Given the description of an element on the screen output the (x, y) to click on. 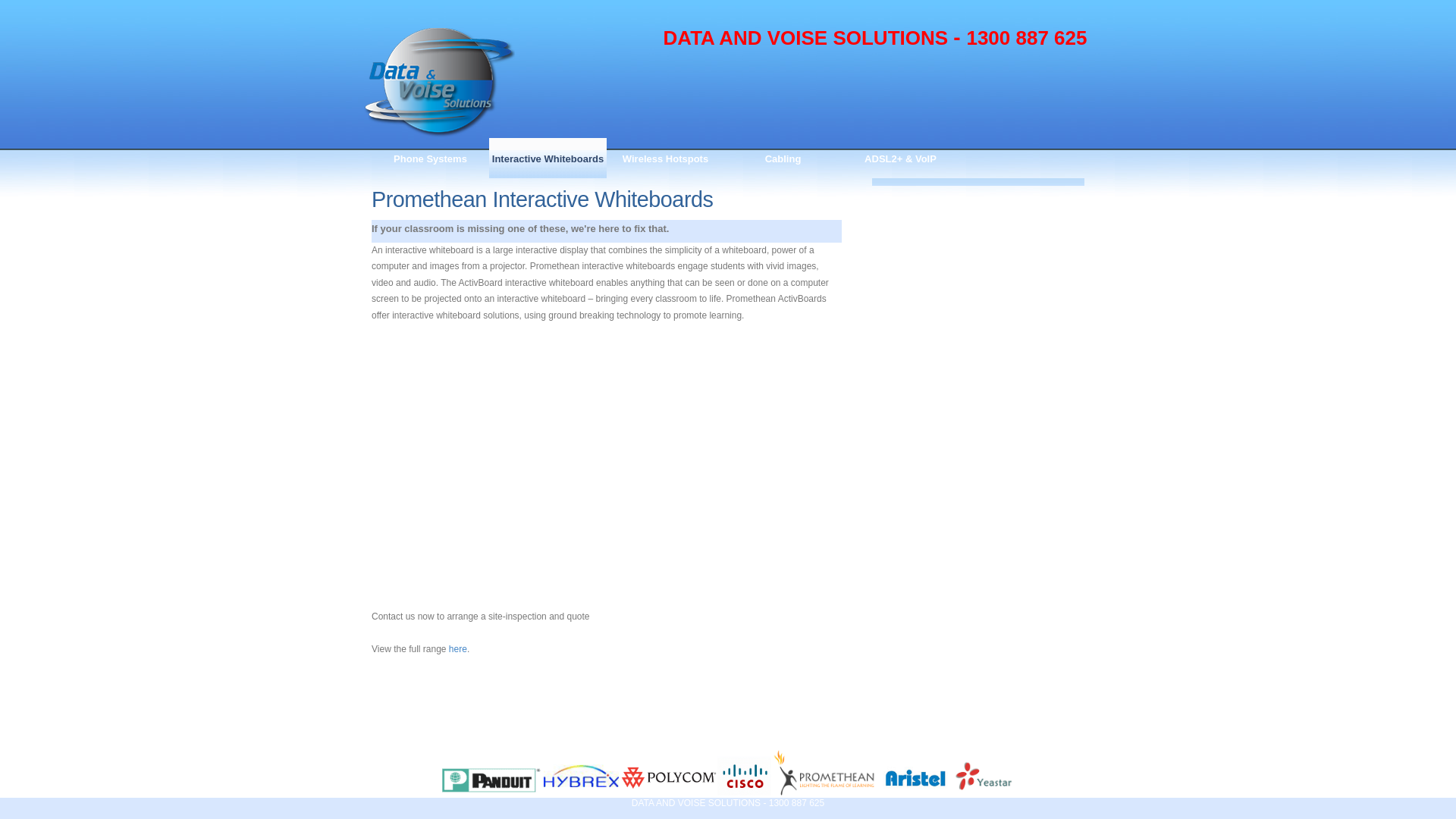
Phone Systems Element type: text (430, 158)
Promethean Interactive Whiteboards Element type: text (541, 199)
Interactive Whiteboards Element type: text (547, 158)
Wireless Hotspots Element type: text (665, 158)
Cabling Element type: text (782, 158)
here Element type: text (457, 648)
ADSL2+ & VoIP Element type: text (900, 158)
